Given the description of an element on the screen output the (x, y) to click on. 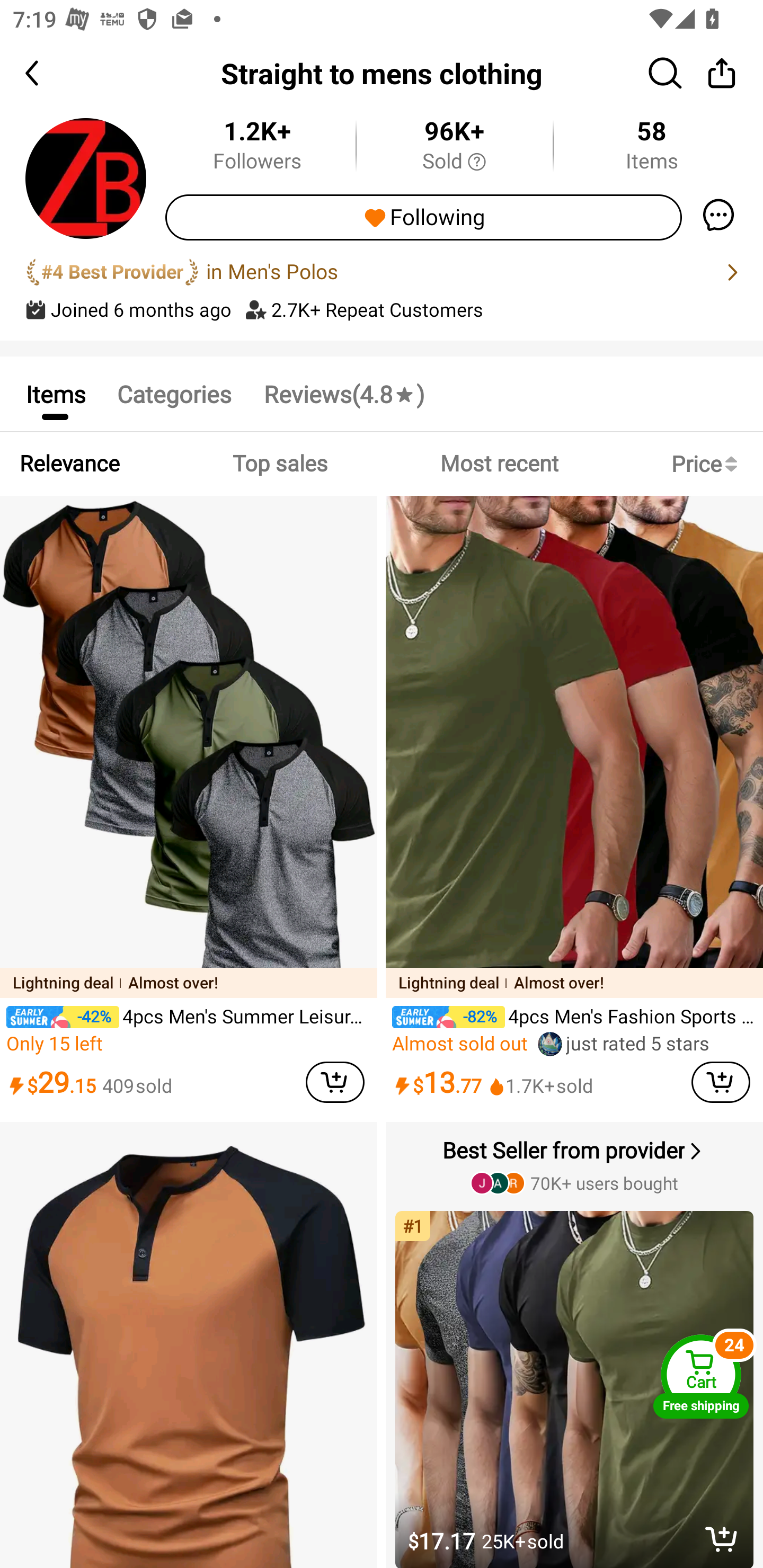
back (47, 72)
Straight to mens clothing (381, 72)
share (721, 72)
Sold (453, 161)
#4 Best Provider in Men's Polos (381, 272)
Items (55, 393)
Categories (174, 393)
Reviews(4.8 ) (343, 393)
Relevance (69, 463)
Top sales (279, 463)
Most recent (498, 463)
Price (707, 463)
Best Seller from provider 70K+ users bought (576, 1164)
#1 $17.17 25K+￼sold delete (576, 1381)
Cart Free shipping Cart (701, 1375)
delete (721, 1538)
